Given the description of an element on the screen output the (x, y) to click on. 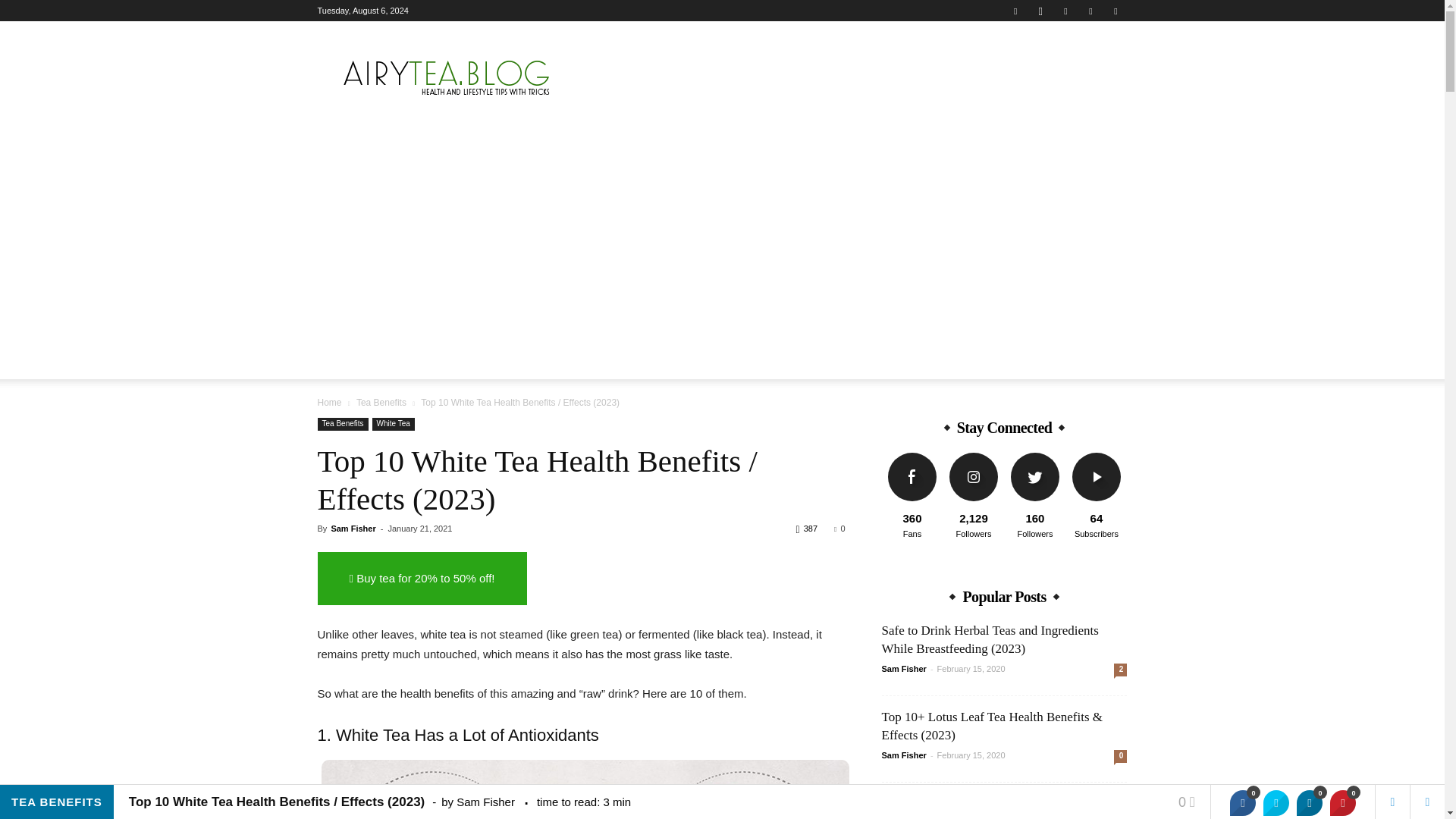
TEA BAGS (545, 361)
AiryTea Blog - Tea Hacks and Health Tips (445, 76)
HERBAL (419, 361)
Instagram (1040, 10)
Facebook (1015, 10)
DISCLAIMER (956, 361)
INFUSERS (480, 361)
Youtube (1114, 10)
Search (1085, 421)
WHITE TEA (755, 361)
OOLONG TEA (830, 361)
BLACK TEA (612, 361)
Home (328, 402)
Twitter (1090, 10)
HOME PAGE (353, 361)
